Given the description of an element on the screen output the (x, y) to click on. 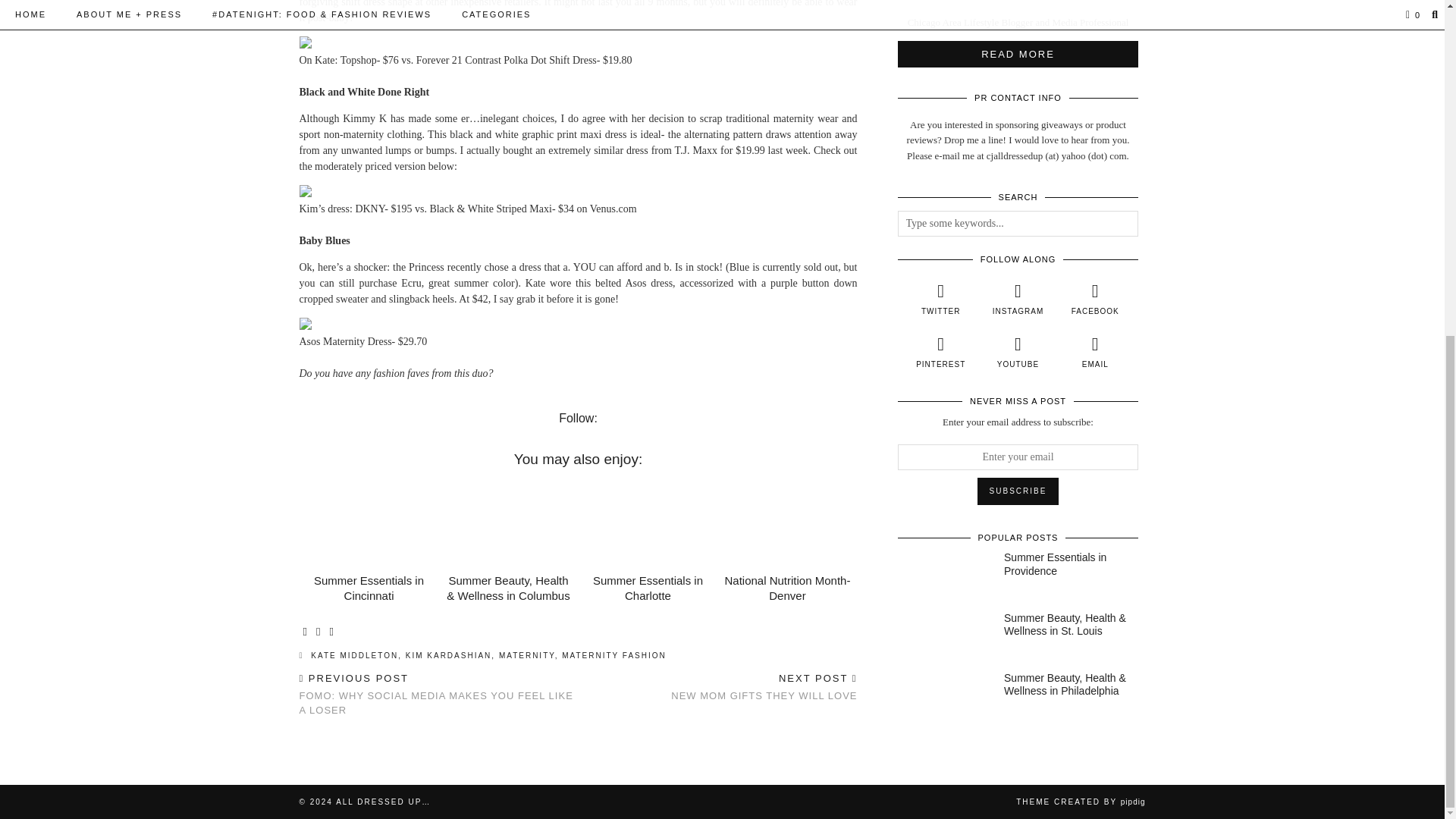
Summer Essentials in Charlotte (647, 524)
Summer Essentials in Cincinnati (368, 524)
Summer Essentials in Charlotte (647, 587)
Summer Essentials in Cincinnati (368, 587)
Summer Essentials in Cincinnati (368, 587)
Subscribe (1017, 491)
